Given the description of an element on the screen output the (x, y) to click on. 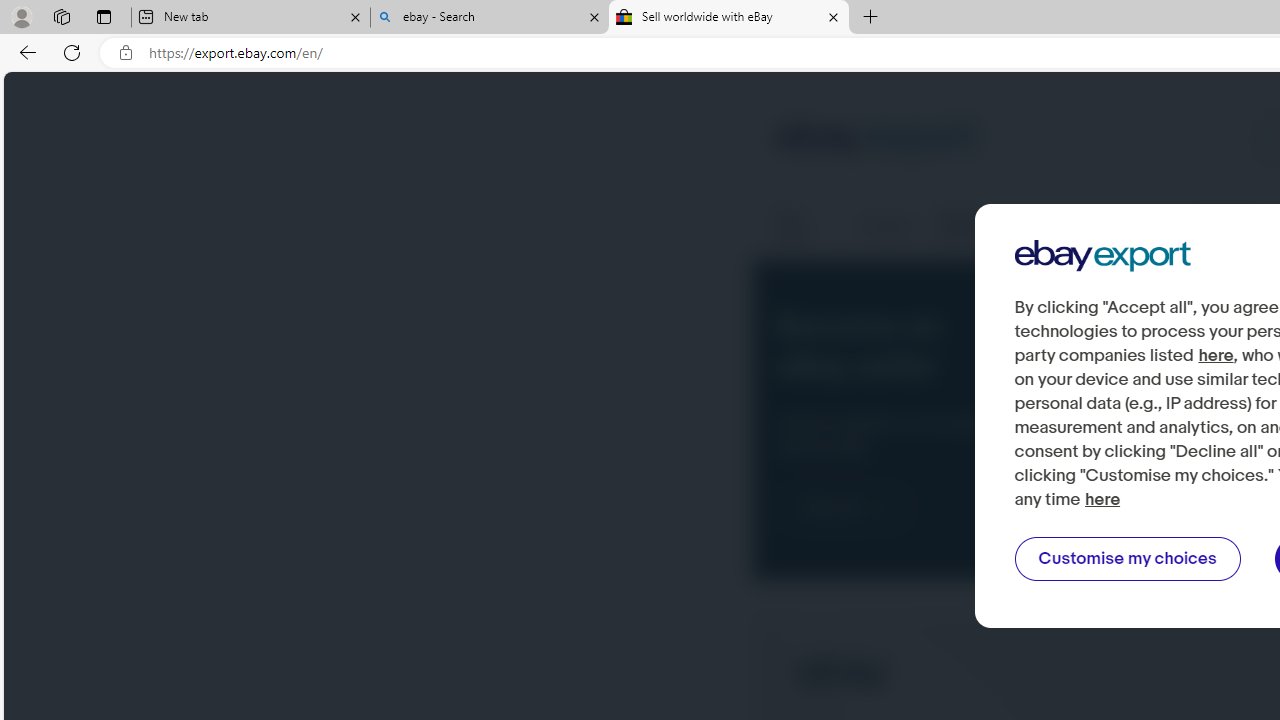
First steps (804, 225)
Customise my choices (1127, 559)
Manage listings (981, 225)
Back (24, 52)
Personal Profile (21, 16)
View site information (125, 53)
Sell worldwide with eBay (729, 17)
Class: header__logo (875, 139)
Ebay Export (1101, 255)
Class: btn__arrow (882, 507)
Close tab (833, 16)
ebay - Search (490, 17)
Tab actions menu (104, 16)
